Given the description of an element on the screen output the (x, y) to click on. 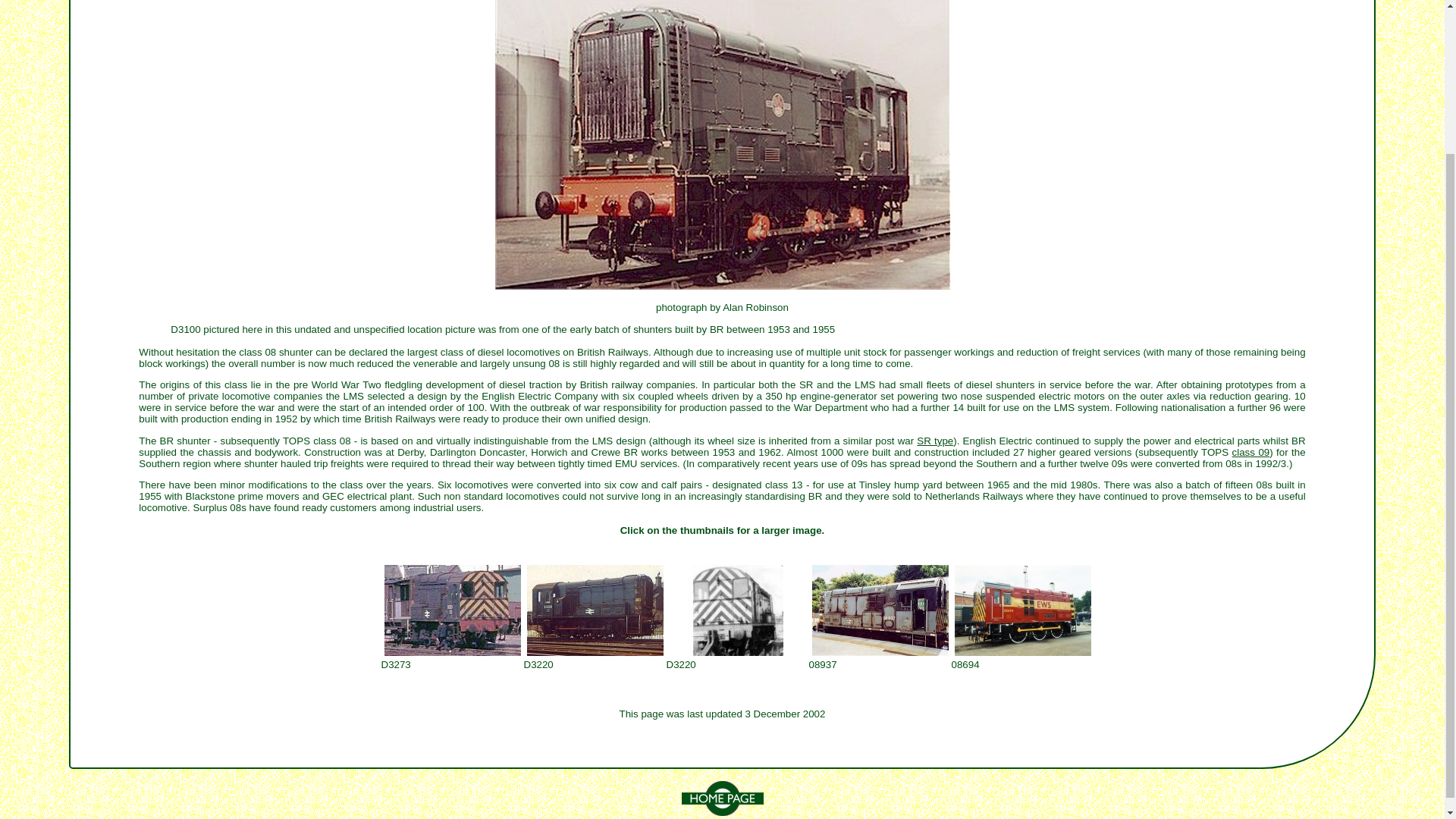
Click to enlarge (879, 610)
Click to enlarge (736, 610)
class 09 (1250, 451)
Click to enlarge (451, 610)
SR type (935, 440)
Click to enlarge (1022, 610)
Click to enlarge (593, 610)
